Given the description of an element on the screen output the (x, y) to click on. 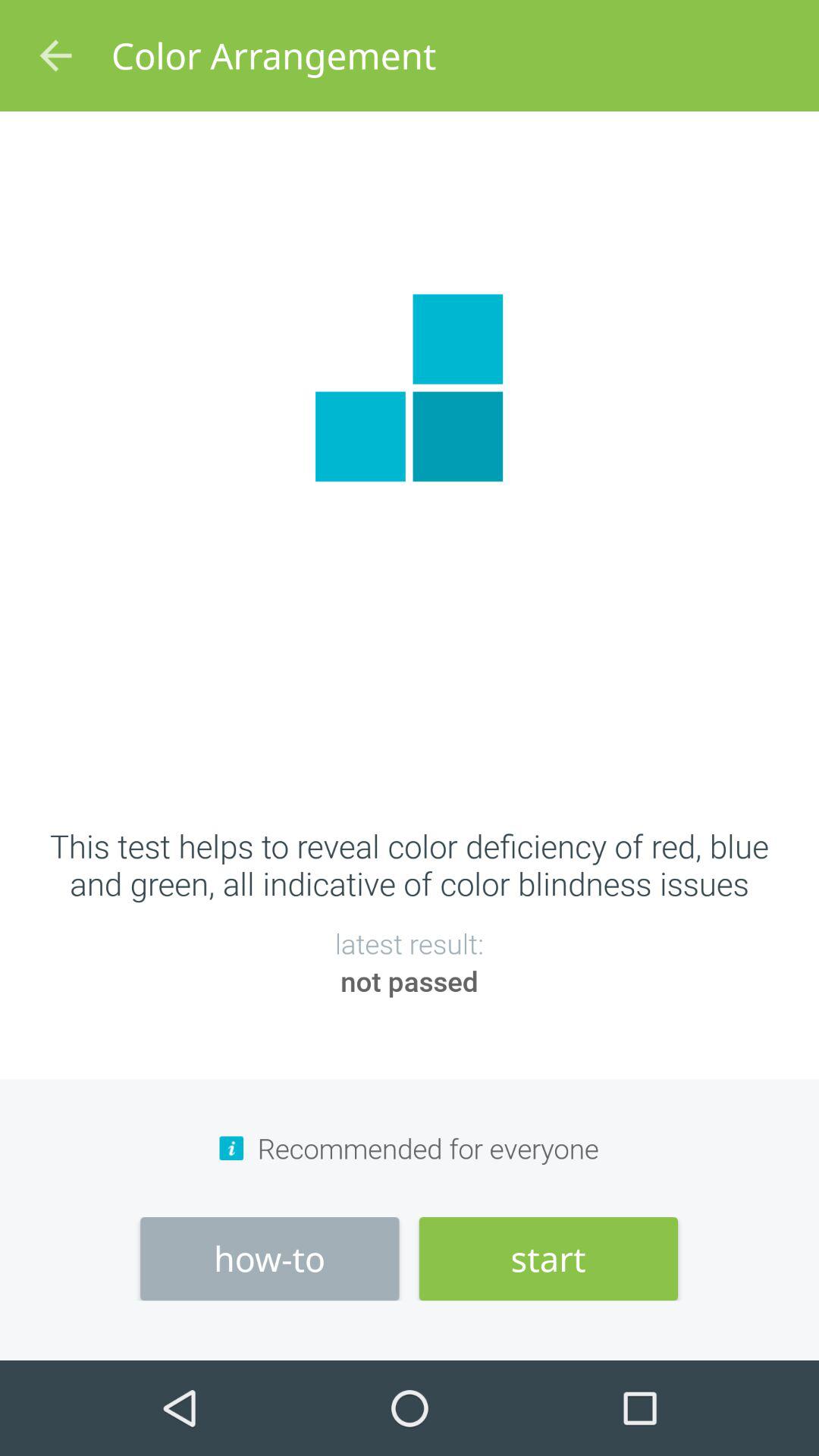
click icon next to how-to item (548, 1258)
